Given the description of an element on the screen output the (x, y) to click on. 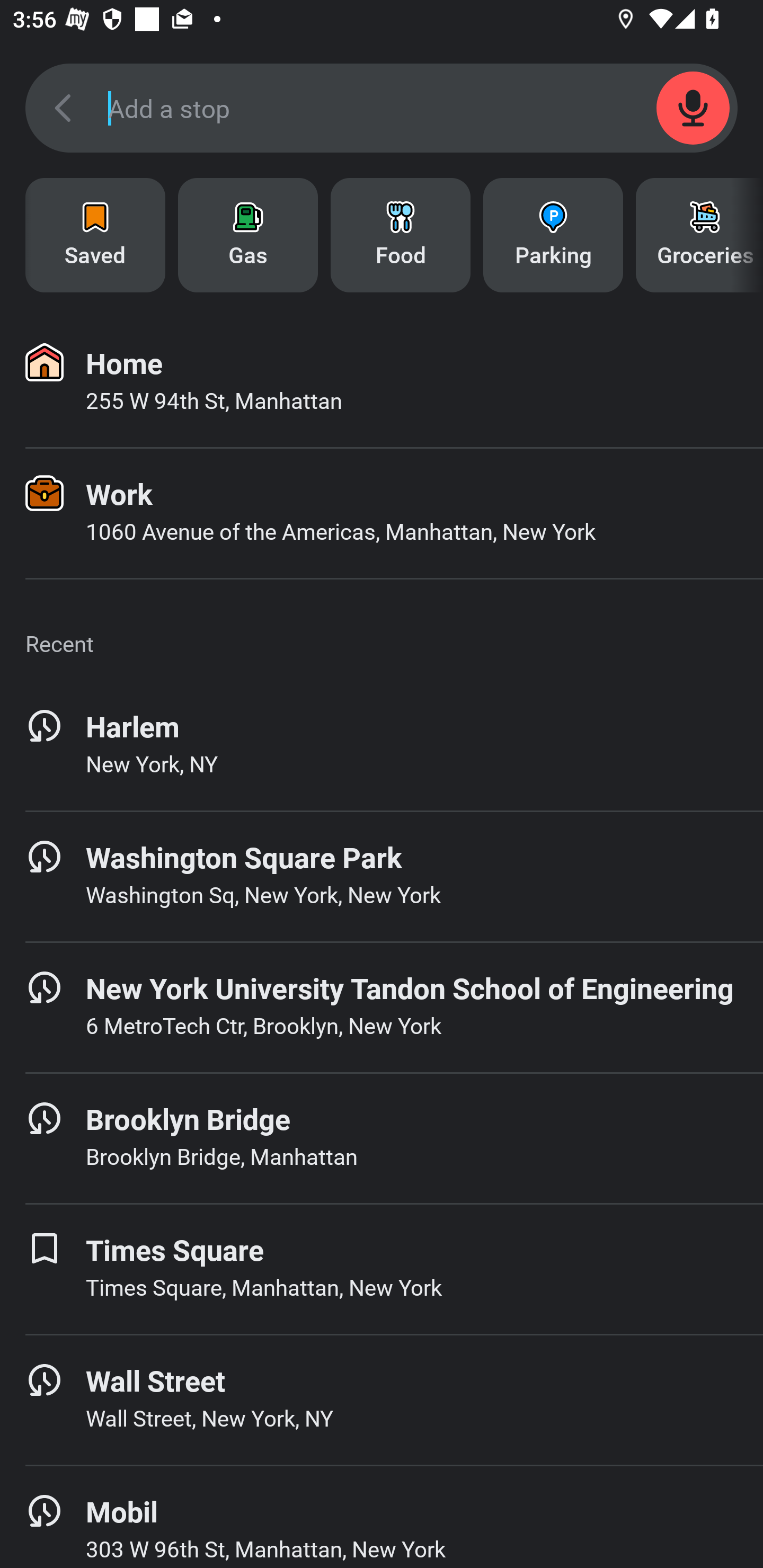
SEARCH_SCREEN_SEARCH_FIELD Add a stop (381, 108)
Saved (95, 234)
Gas (247, 234)
Food (400, 234)
Parking (552, 234)
Groceries (699, 234)
Home 255 W 94th St, Manhattan (381, 382)
Harlem New York, NY (381, 745)
Brooklyn Bridge Brooklyn Bridge, Manhattan (381, 1138)
Times Square Times Square, Manhattan, New York (381, 1269)
Wall Street Wall Street, New York, NY (381, 1399)
Mobil 303 W 96th St, Manhattan, New York (381, 1517)
